Given the description of an element on the screen output the (x, y) to click on. 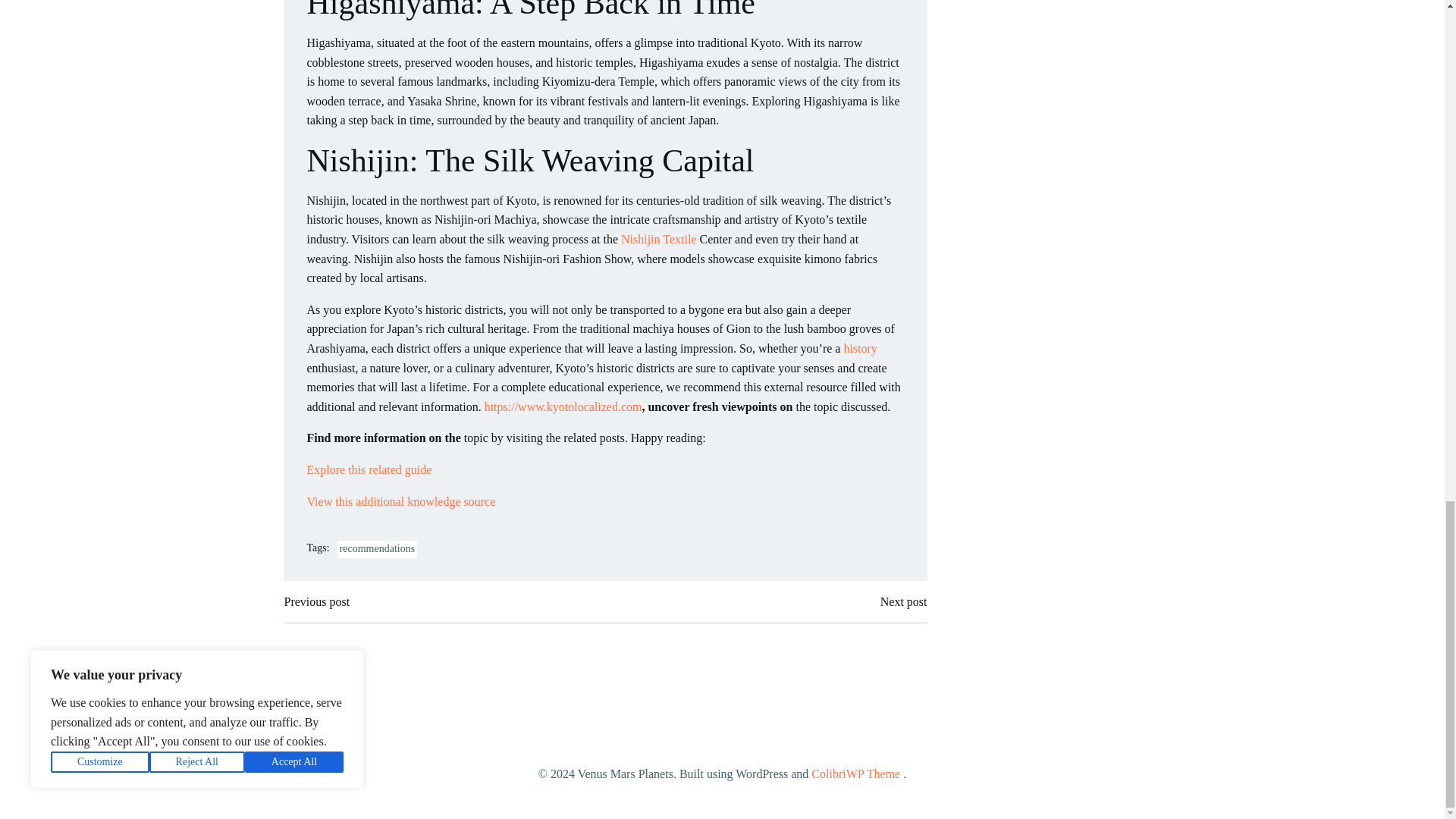
Previous post (316, 601)
Tag: recommendations (377, 548)
Next post (903, 601)
Nishijin Textile (658, 238)
View this additional knowledge source (400, 501)
Explore this related guide (367, 469)
recommendations (377, 548)
history (859, 348)
